Given the description of an element on the screen output the (x, y) to click on. 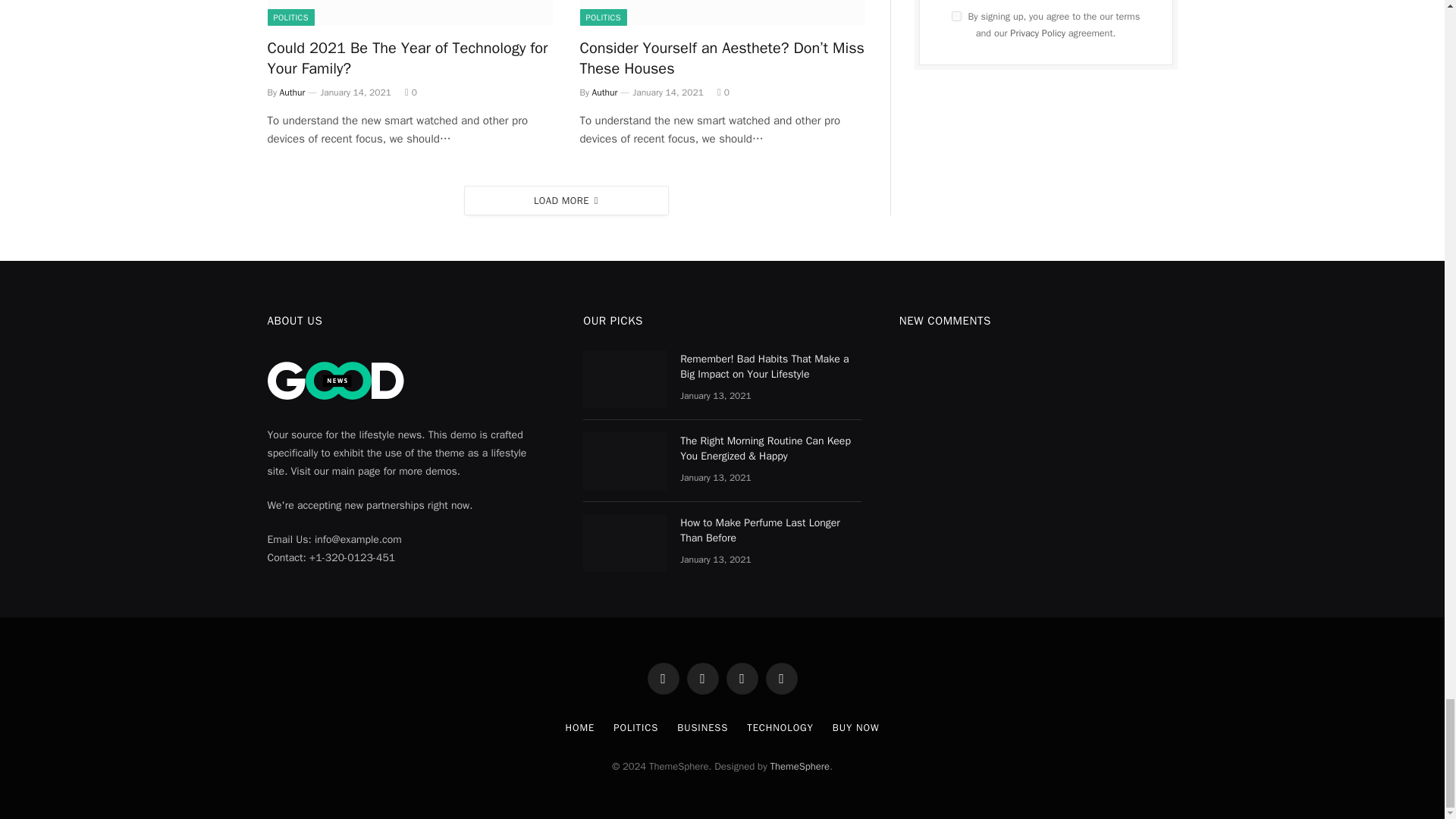
on (956, 16)
